Given the description of an element on the screen output the (x, y) to click on. 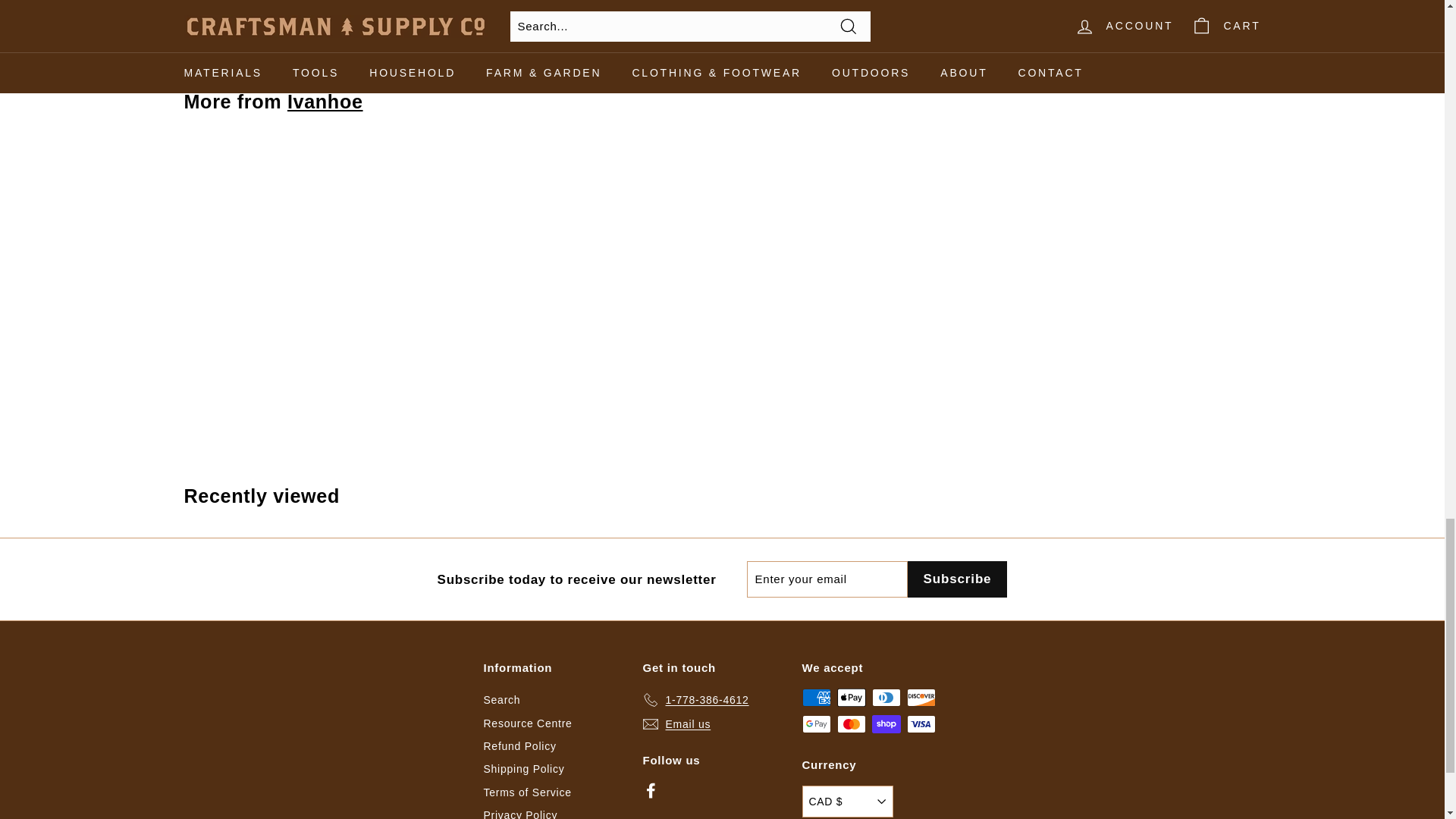
Shop Pay (886, 723)
Google Pay (816, 723)
American Express (816, 697)
Mastercard (851, 723)
Craftsman Supply on Facebook (651, 789)
Ivanhoe (324, 101)
Apple Pay (851, 697)
Diners Club (886, 697)
Discover (921, 697)
